Given the description of an element on the screen output the (x, y) to click on. 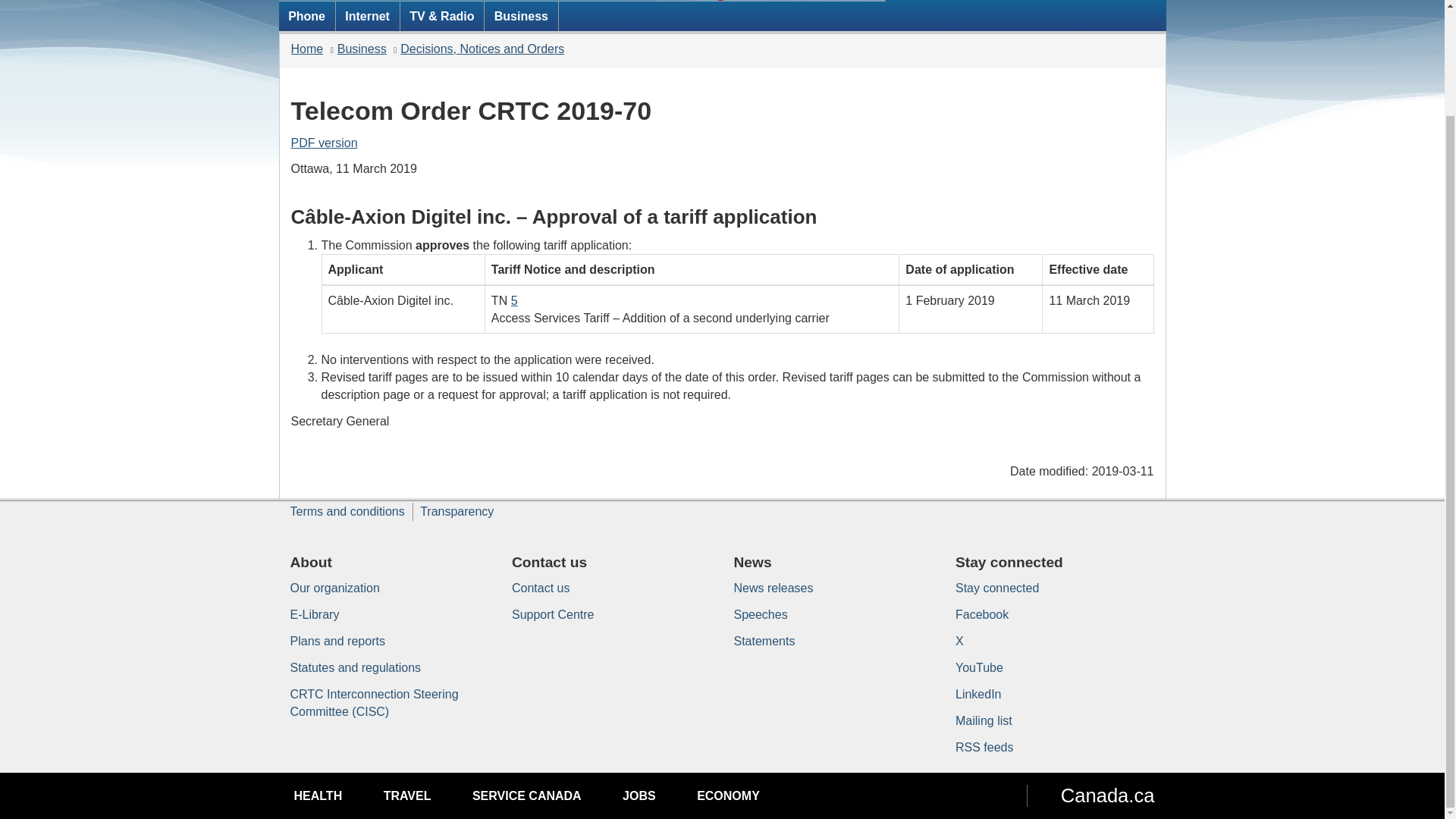
HEALTH (318, 795)
Business (362, 48)
Business (520, 15)
RSS feeds (984, 747)
Contact us (540, 587)
Facebook (982, 614)
Transparency (456, 511)
Statements (763, 640)
TRAVEL (407, 795)
E-Library (314, 614)
Stay connected (997, 587)
Internet (367, 15)
Mailing list (983, 720)
Home (307, 48)
Speeches (760, 614)
